Given the description of an element on the screen output the (x, y) to click on. 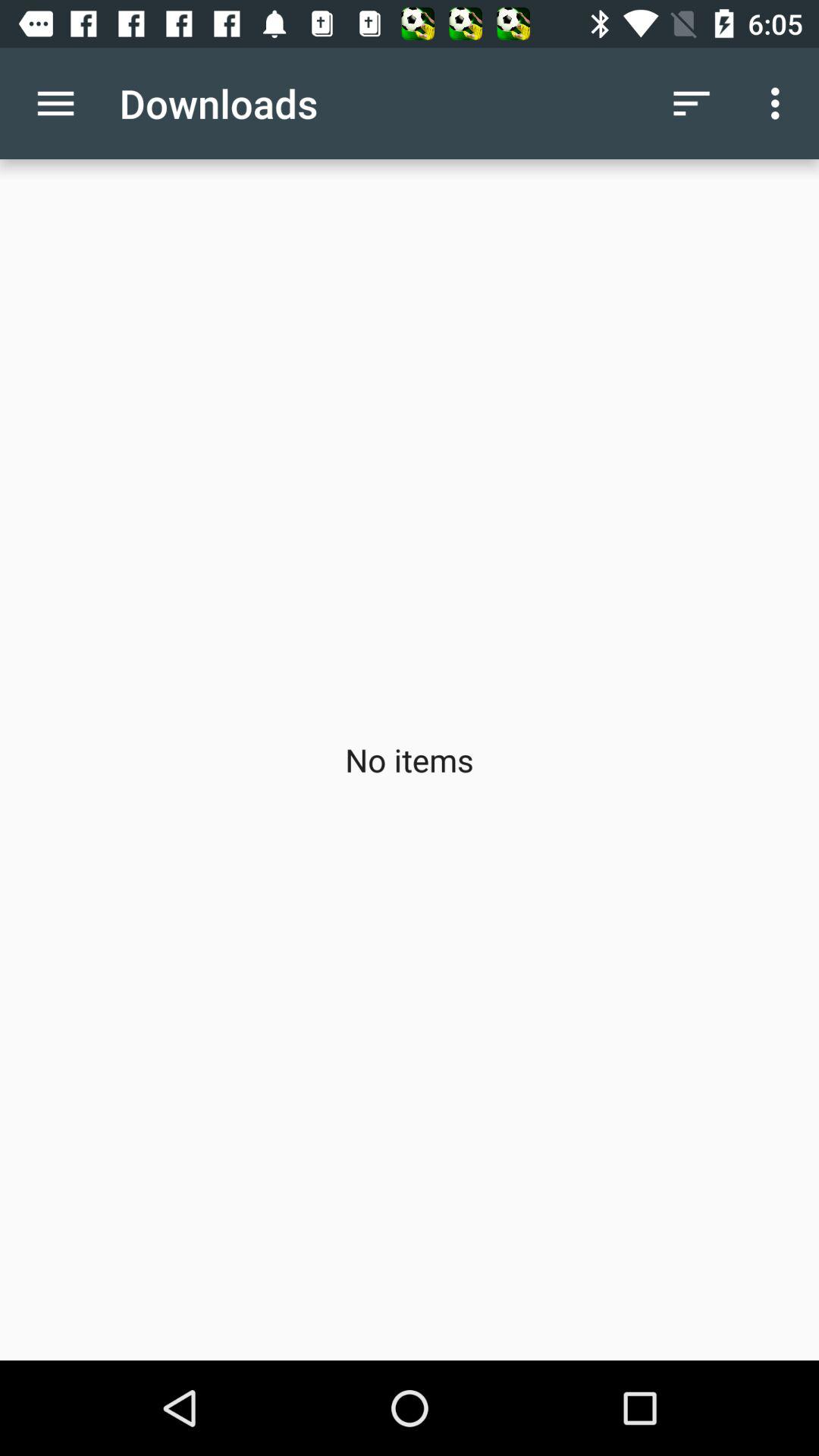
press the app to the left of downloads (55, 103)
